Given the description of an element on the screen output the (x, y) to click on. 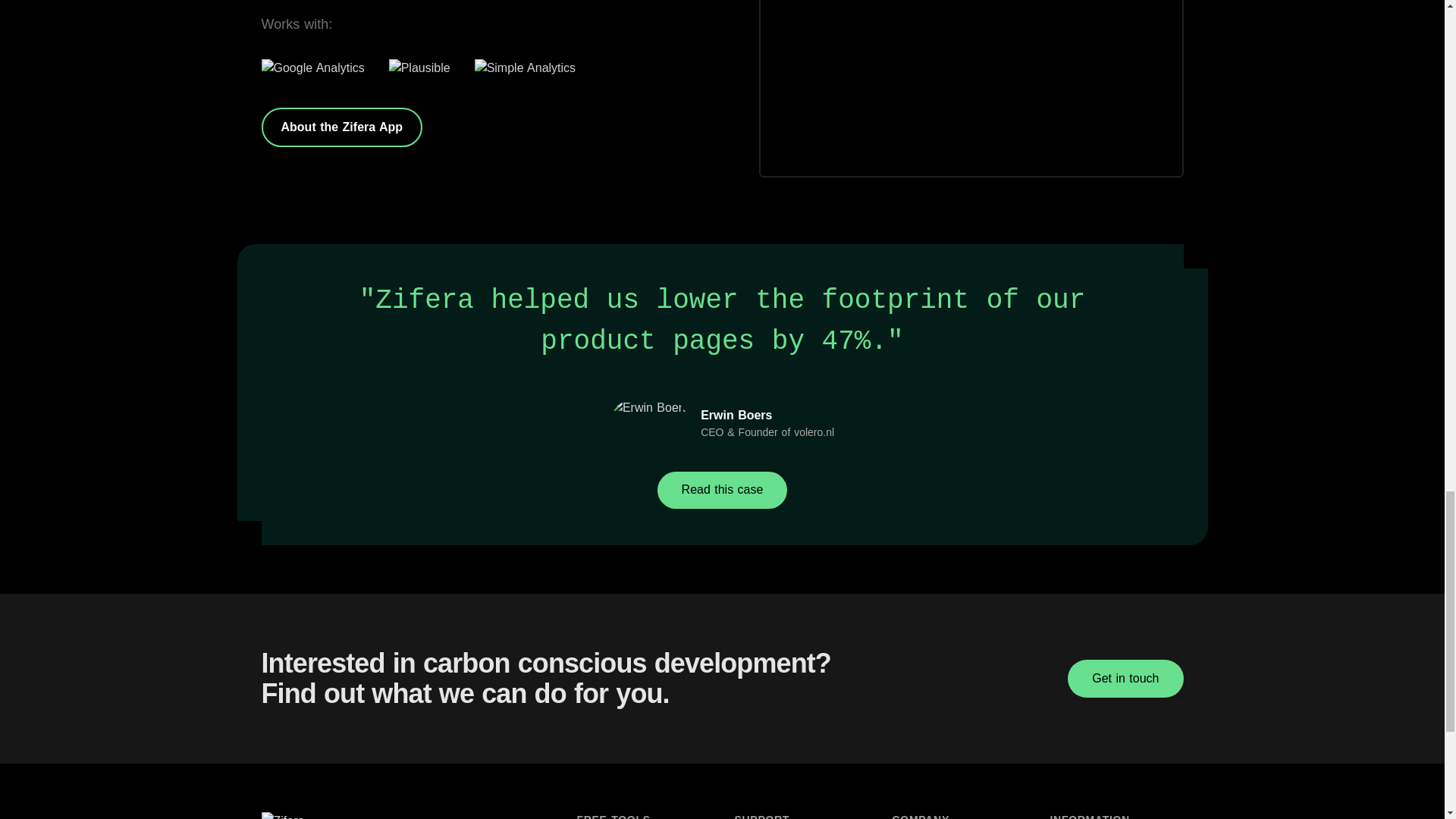
About the Zifera App (341, 127)
Get in touch (1124, 678)
Read this case (722, 490)
